Given the description of an element on the screen output the (x, y) to click on. 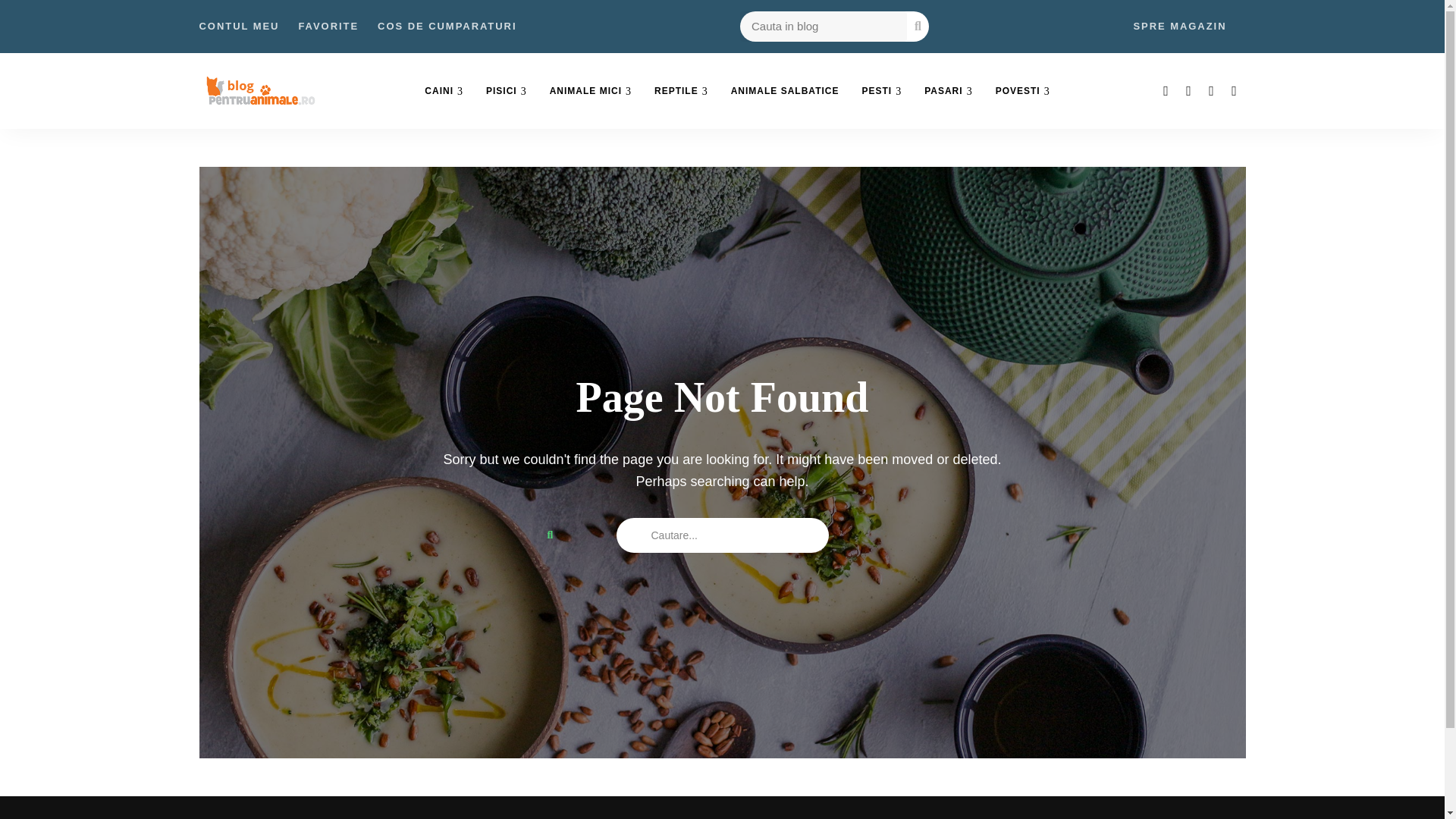
CONTUL MEU (238, 26)
ANIMALE MICI (590, 90)
REPTILE (681, 90)
COS DE CUMPARATURI (446, 26)
SPRE MAGAZIN (1178, 26)
ANIMALE SALBATICE (784, 90)
FAVORITE (328, 26)
POVESTI (1022, 90)
PASARI (948, 90)
